Given the description of an element on the screen output the (x, y) to click on. 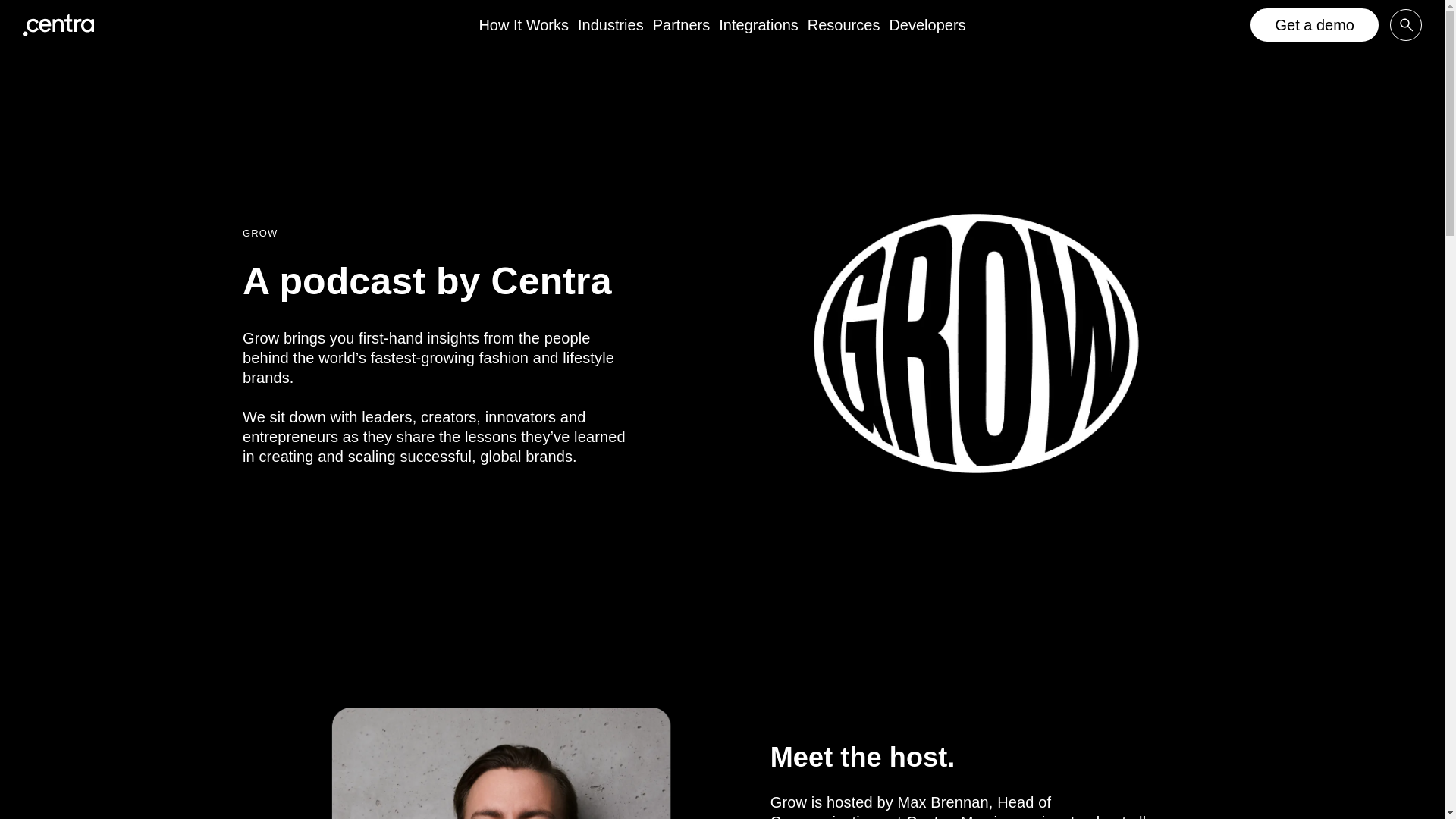
Industries (610, 24)
Resources (844, 24)
Get a demo (1314, 24)
How It Works (524, 24)
Partners (681, 24)
Developers (926, 24)
Integrations (758, 24)
